Given the description of an element on the screen output the (x, y) to click on. 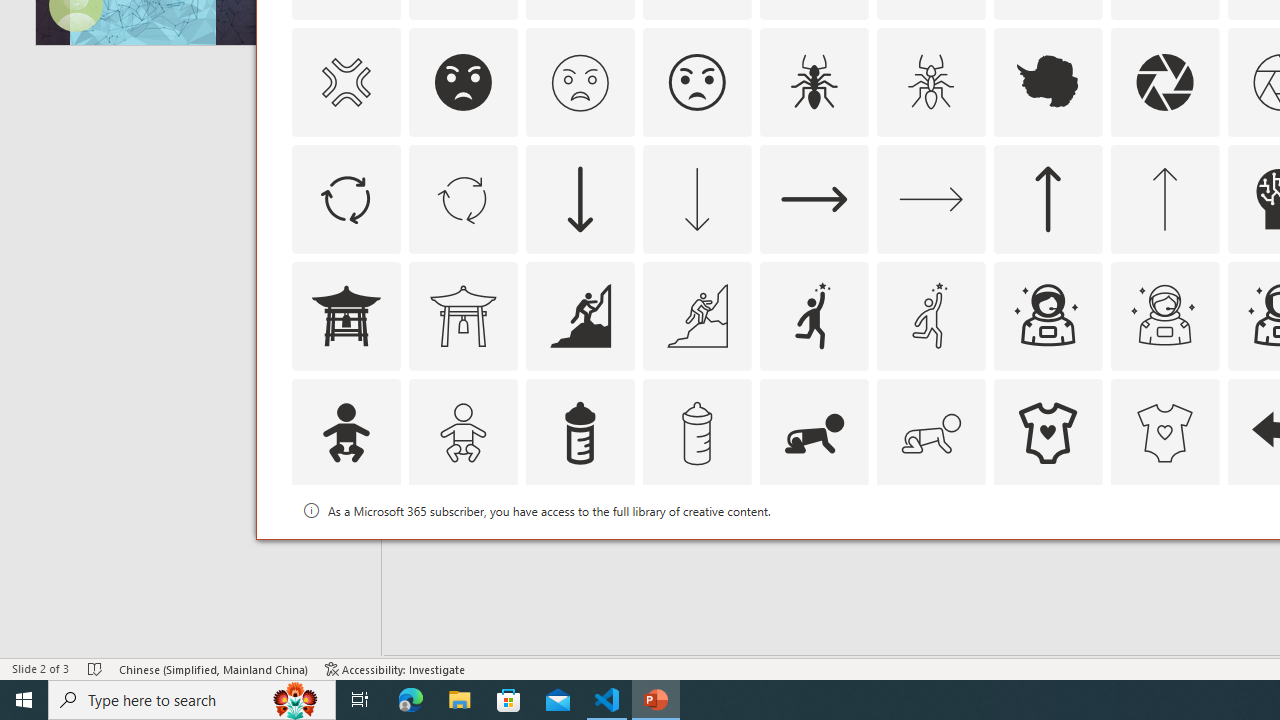
AutomationID: Icons_AstronautFemale_M (1164, 316)
AutomationID: Icons_BabyOnesie (1048, 432)
AutomationID: Icons_Baby_M (463, 432)
AutomationID: Icons_Aspiration (579, 316)
AutomationID: Icons (1048, 550)
AutomationID: Icons_AstronautFemale (1048, 316)
